Given the description of an element on the screen output the (x, y) to click on. 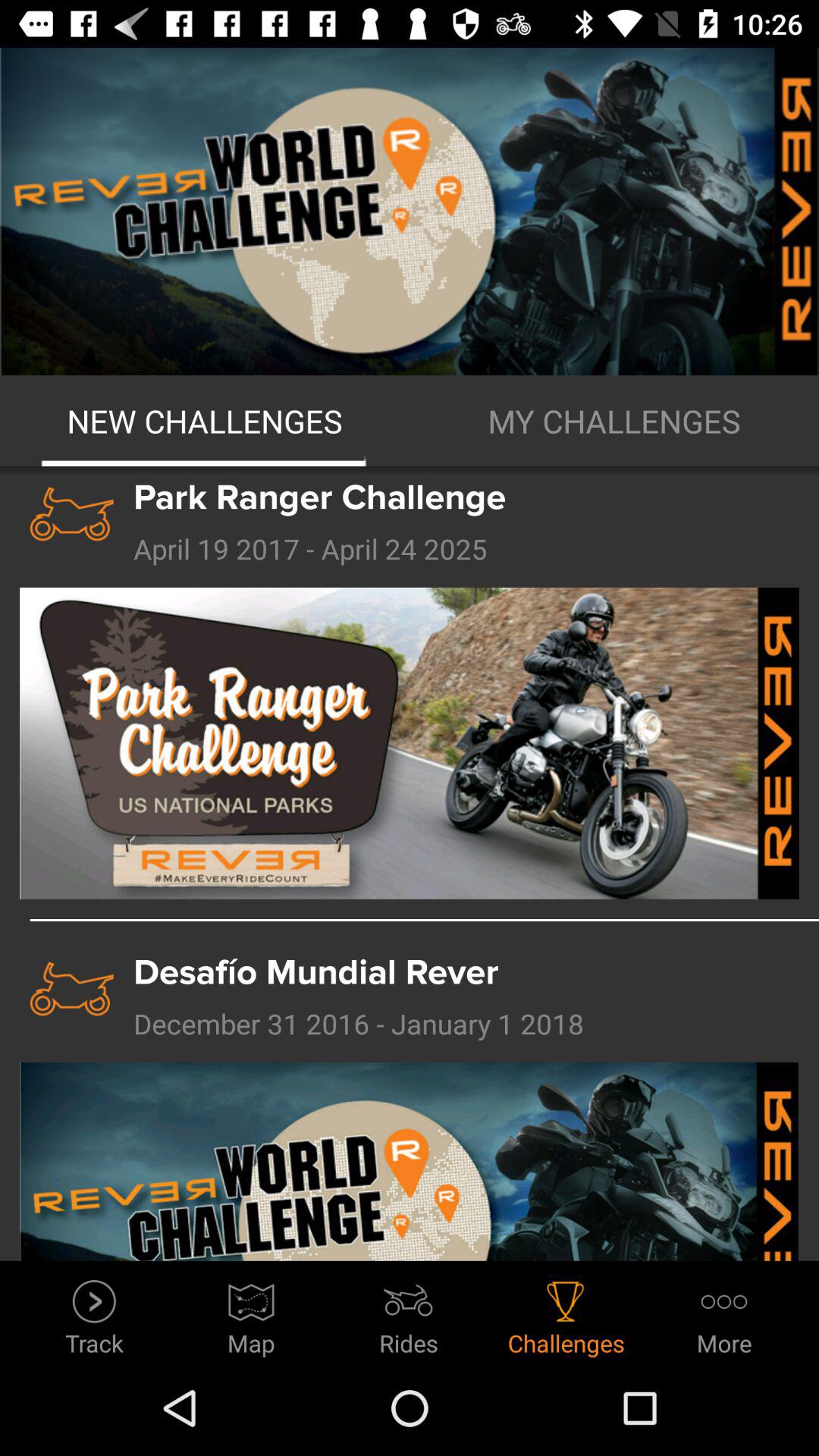
choose the item to the left of challenges item (408, 1313)
